Given the description of an element on the screen output the (x, y) to click on. 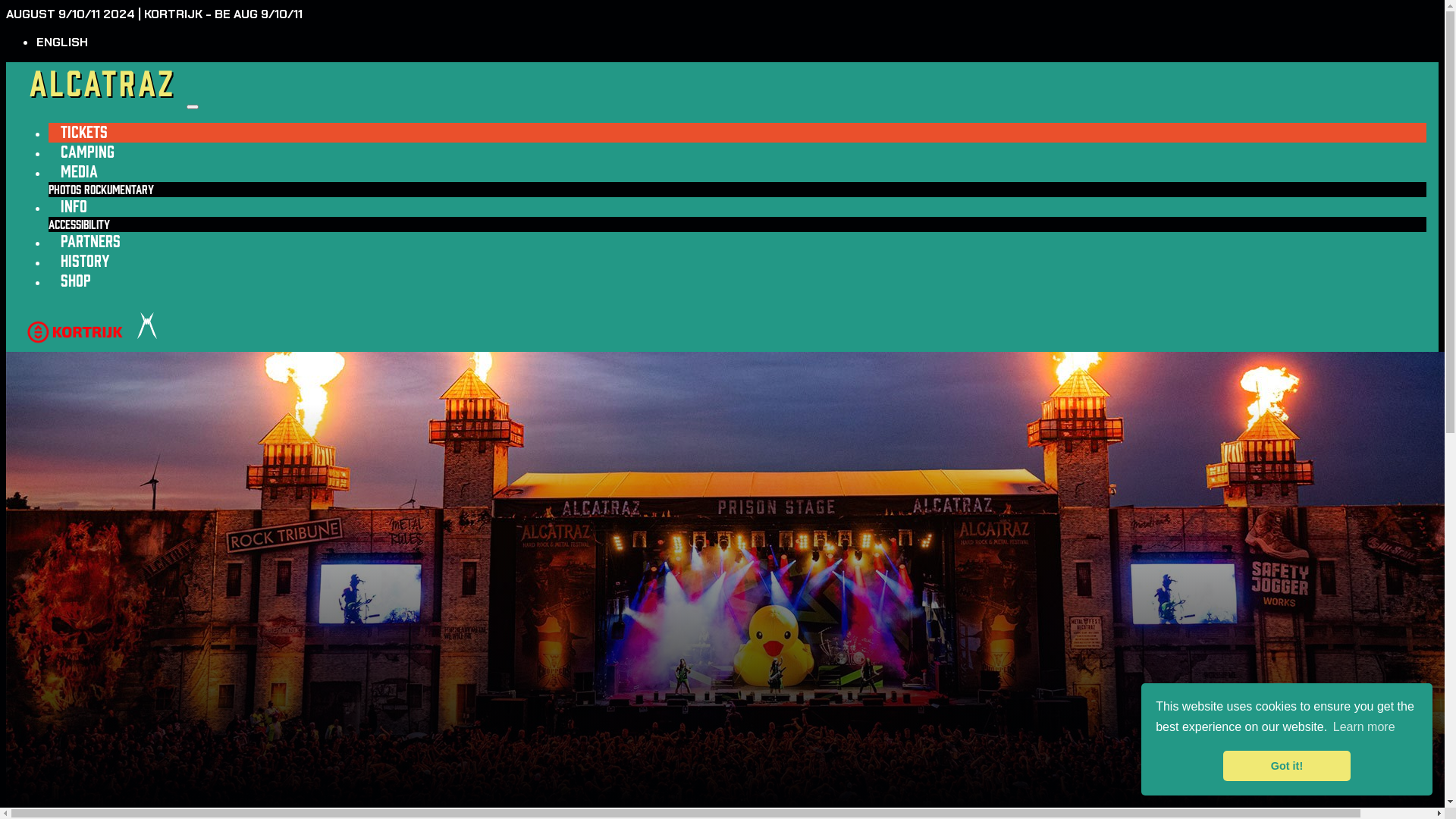
PHOTOS Element type: text (64, 189)
TICKETS Element type: text (83, 131)
MEDIA Element type: text (78, 171)
ROCKUMENTARY Element type: text (118, 189)
kortrijk Element type: hover (74, 343)
HISTORY Element type: text (84, 260)
SHOP Element type: text (75, 280)
Learn more Element type: text (1363, 726)
ENGLISH Element type: text (61, 42)
PARTNERS Element type: text (90, 241)
ACCESSIBILITY Element type: text (78, 224)
Got it! Element type: text (1286, 765)
INFO Element type: text (73, 206)
CAMPING Element type: text (87, 151)
